Given the description of an element on the screen output the (x, y) to click on. 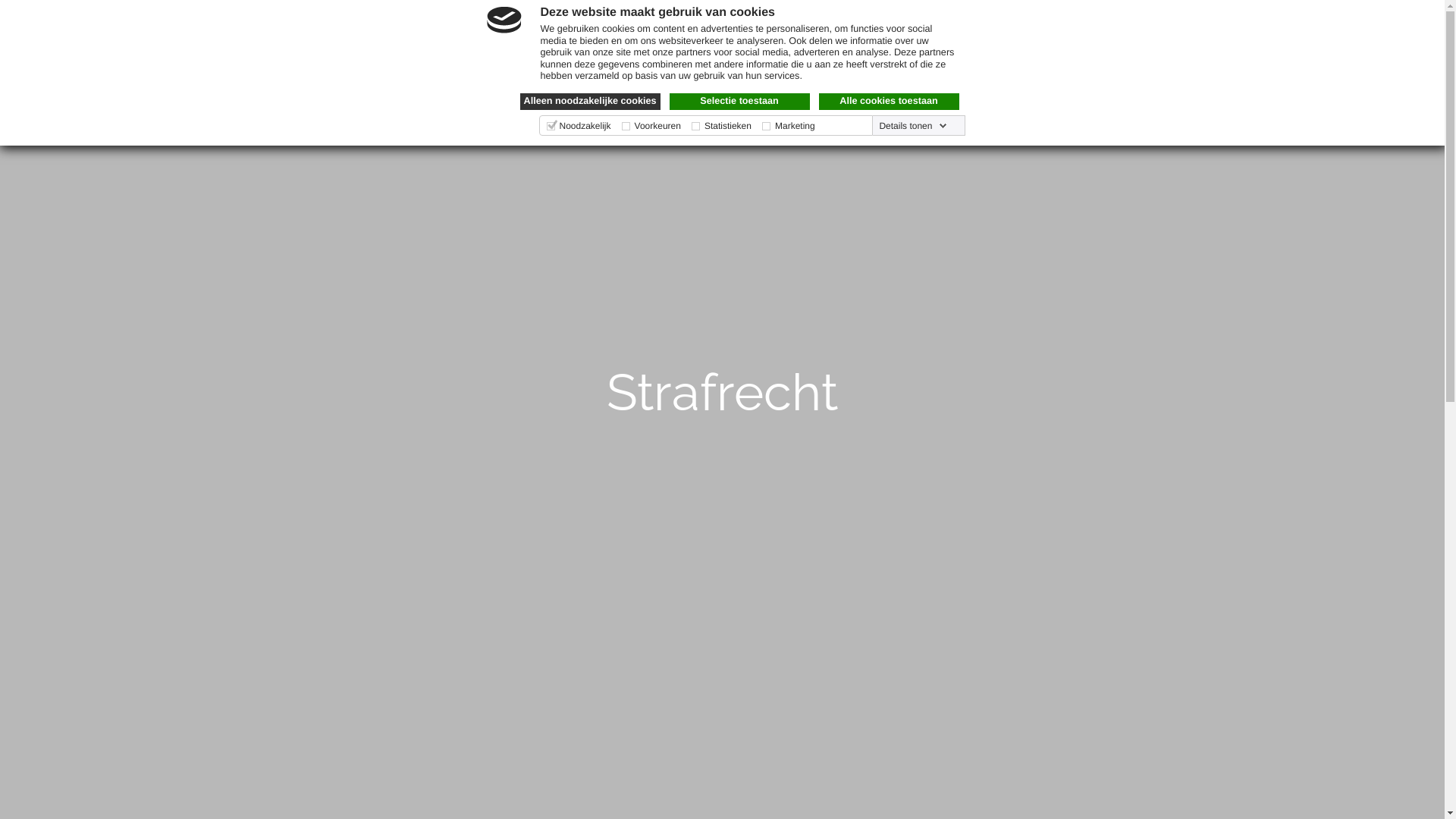
Home Element type: text (426, 25)
Rechtstakken Element type: text (508, 25)
Alleen noodzakelijke cookies Element type: text (590, 101)
Tarieven Element type: text (701, 25)
Ons team Element type: text (778, 25)
Bemiddeling Element type: text (614, 25)
Details tonen Element type: text (912, 125)
Contacteer ons Element type: text (878, 25)
Alle cookies toestaan Element type: text (889, 101)
Selectie toestaan Element type: text (738, 101)
